Given the description of an element on the screen output the (x, y) to click on. 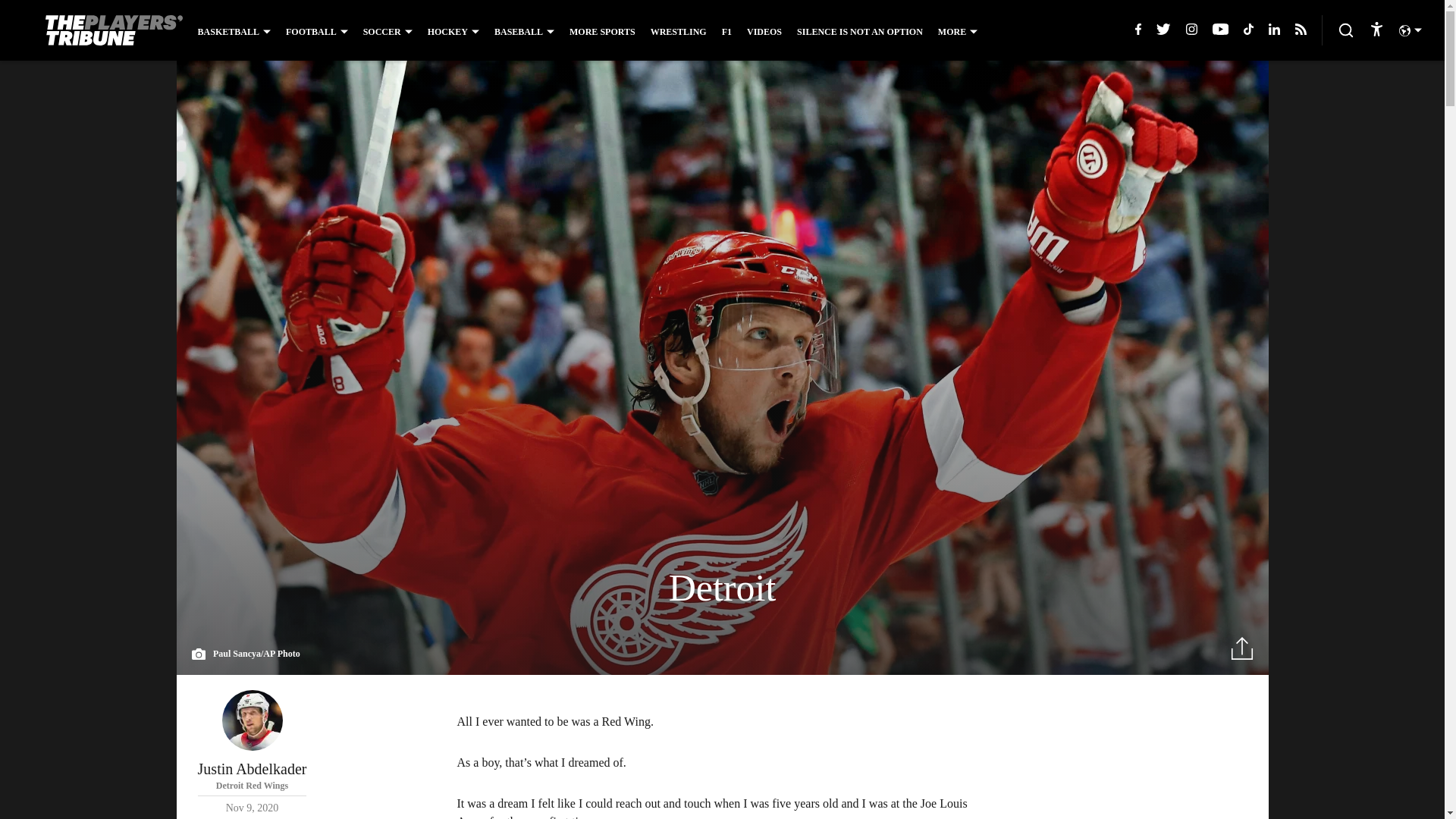
Justin Abdelkader (251, 720)
WRESTLING (251, 752)
MORE SPORTS (678, 31)
MORE (601, 31)
SILENCE IS NOT AN OPTION (956, 31)
VIDEOS (859, 31)
